Given the description of an element on the screen output the (x, y) to click on. 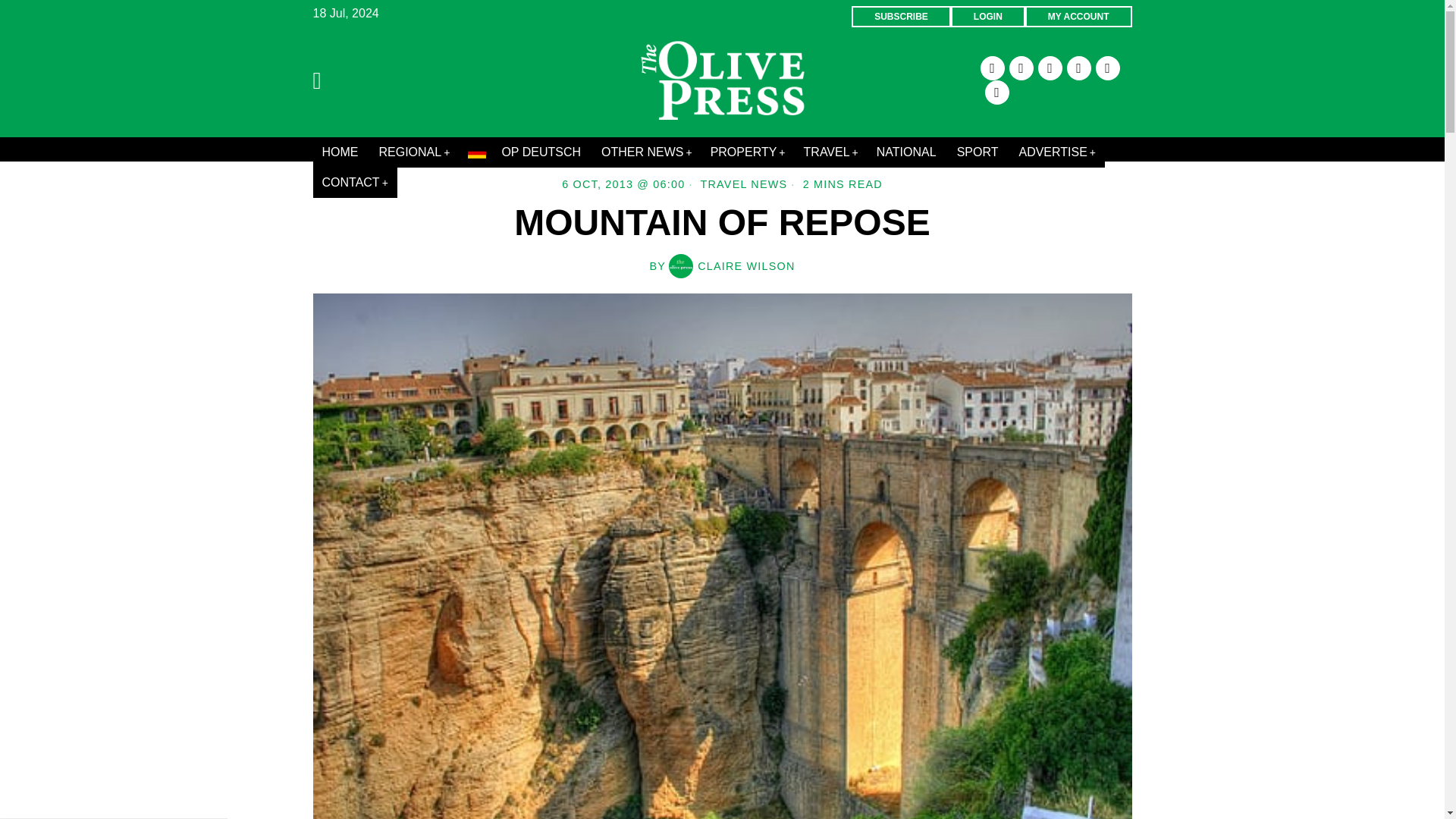
SUBSCRIBE (900, 16)
OTHER NEWS (646, 152)
MY ACCOUNT (1078, 16)
HOME (341, 152)
LOGIN (987, 16)
REGIONAL (414, 152)
06 Oct, 2013 06:12:00 (623, 183)
OP DEUTSCH (525, 152)
